Given the description of an element on the screen output the (x, y) to click on. 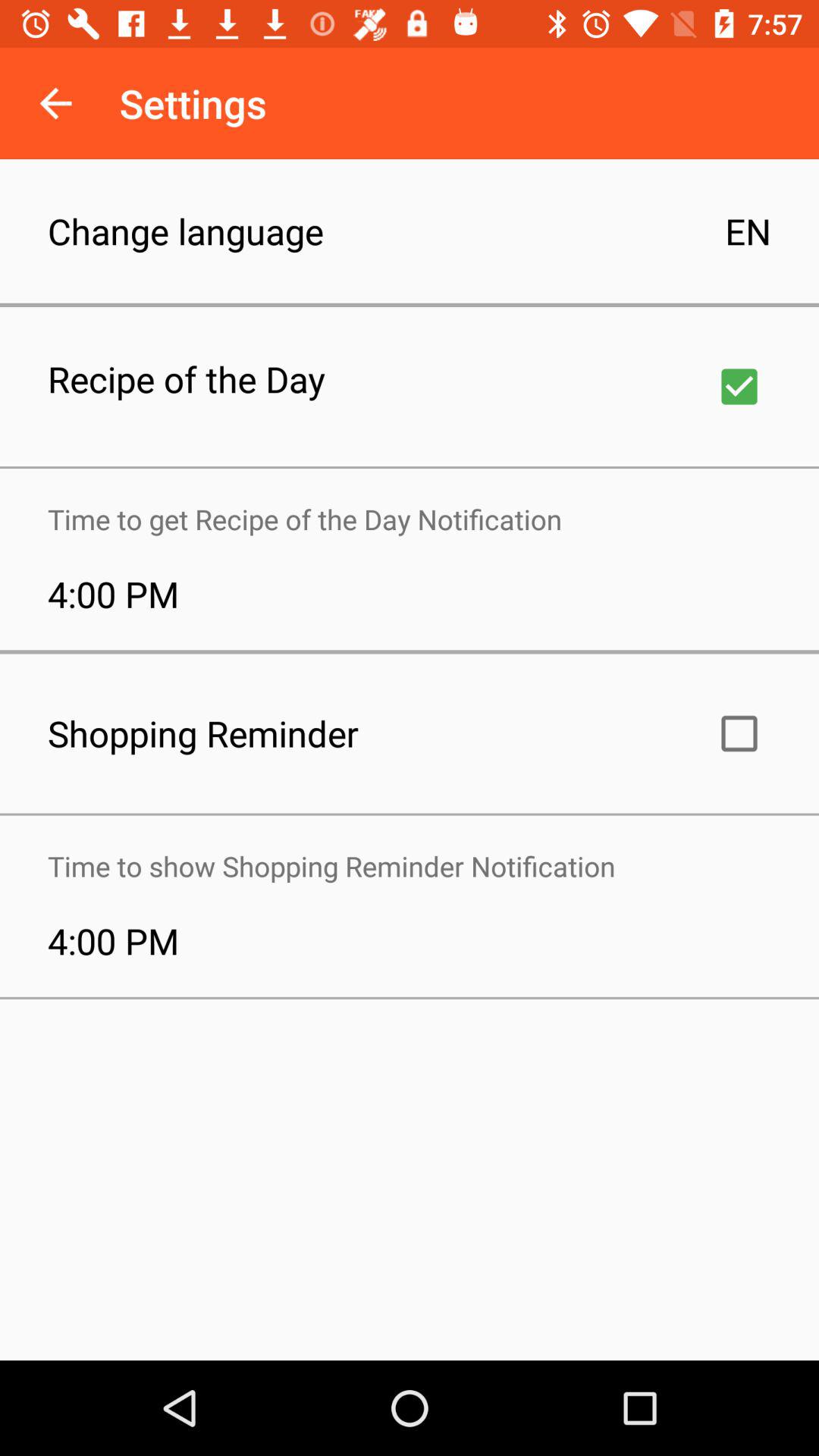
set the reminder (739, 733)
